Given the description of an element on the screen output the (x, y) to click on. 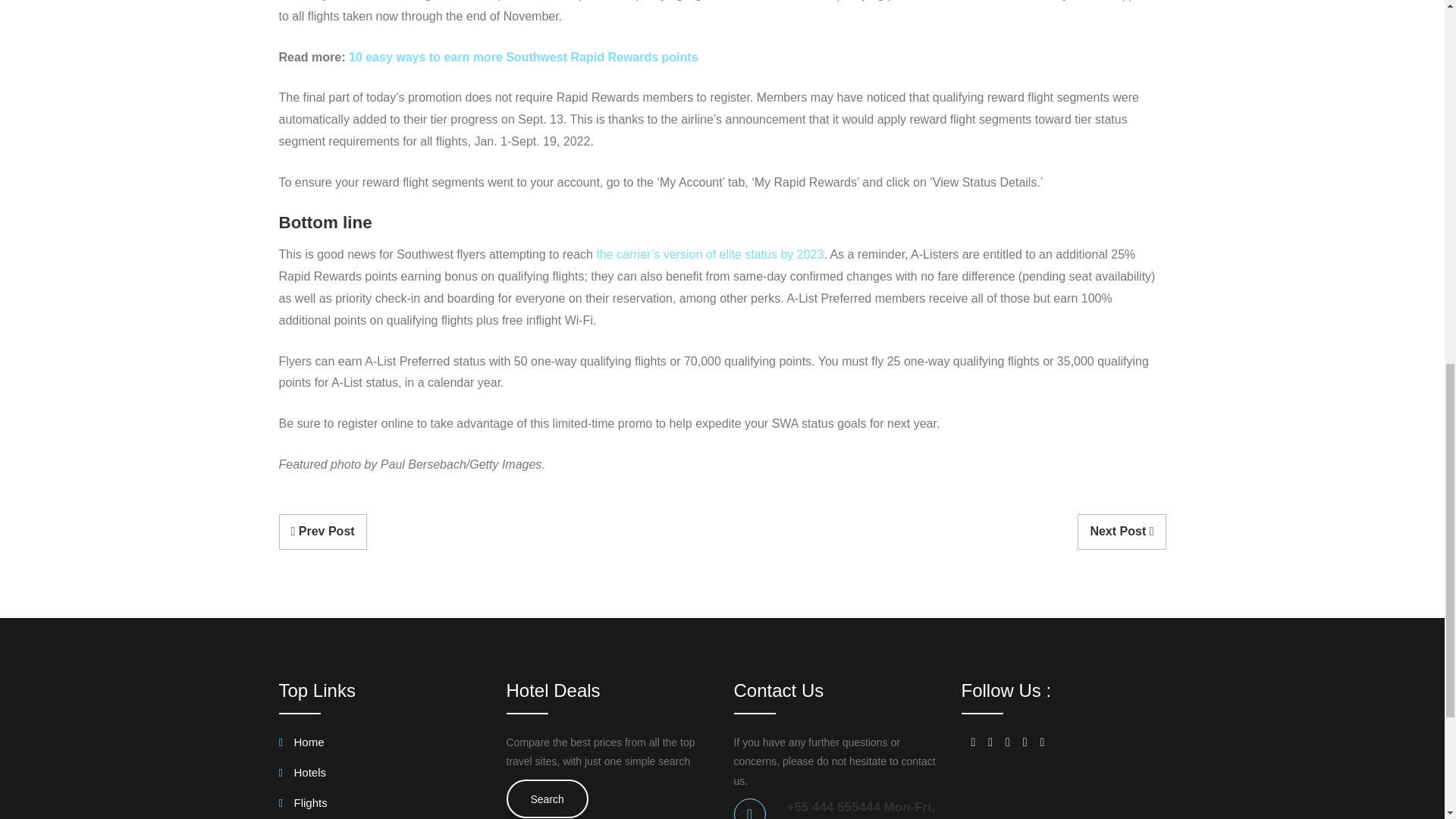
Prev Post (322, 531)
Hotels (302, 775)
Home (301, 744)
Flights (303, 805)
Next Post (1121, 531)
10 easy ways to earn more Southwest Rapid Rewards points (523, 56)
